Given the description of an element on the screen output the (x, y) to click on. 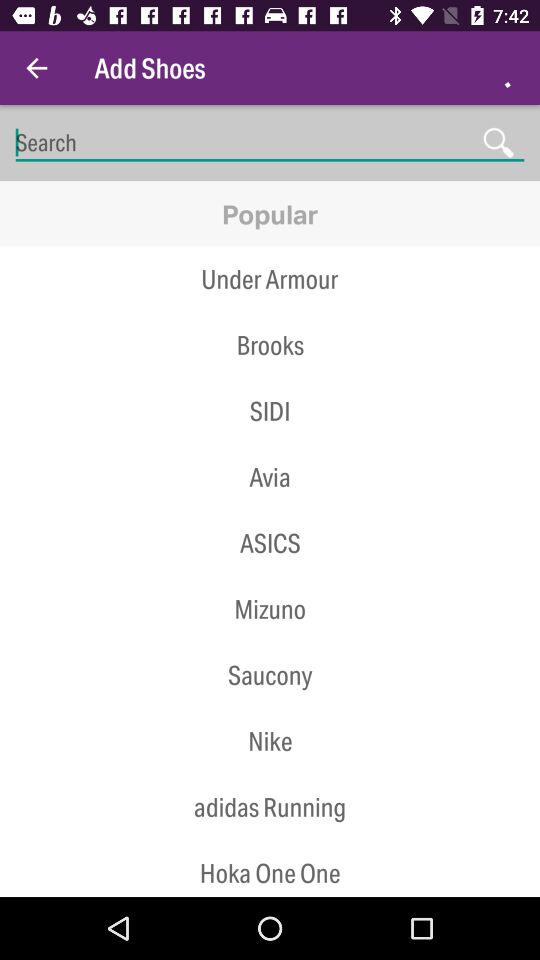
jump until the nike icon (270, 740)
